Given the description of an element on the screen output the (x, y) to click on. 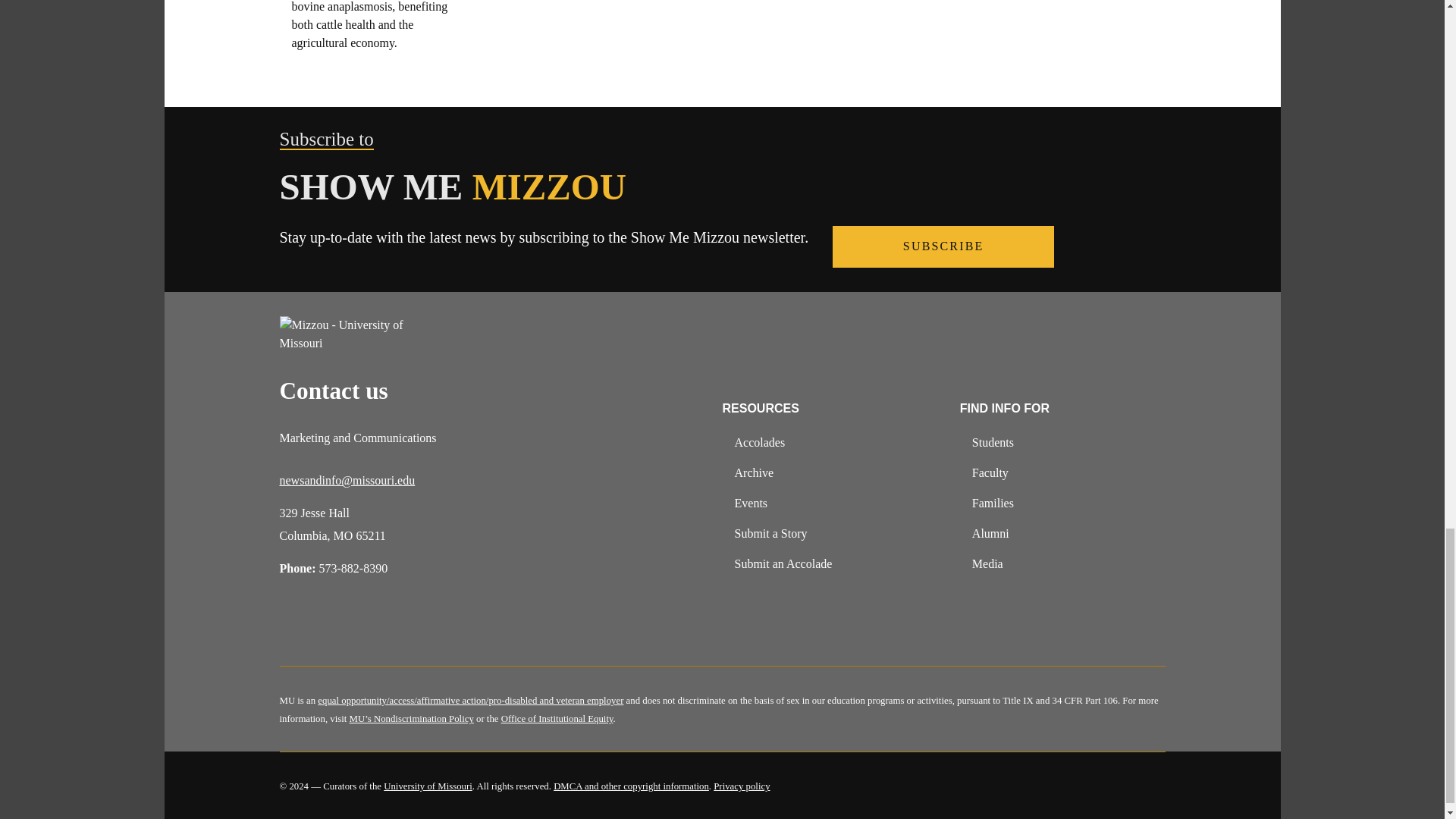
Facebook (292, 627)
Linkedin (411, 627)
Twitter (332, 627)
Instagram (371, 627)
